Given the description of an element on the screen output the (x, y) to click on. 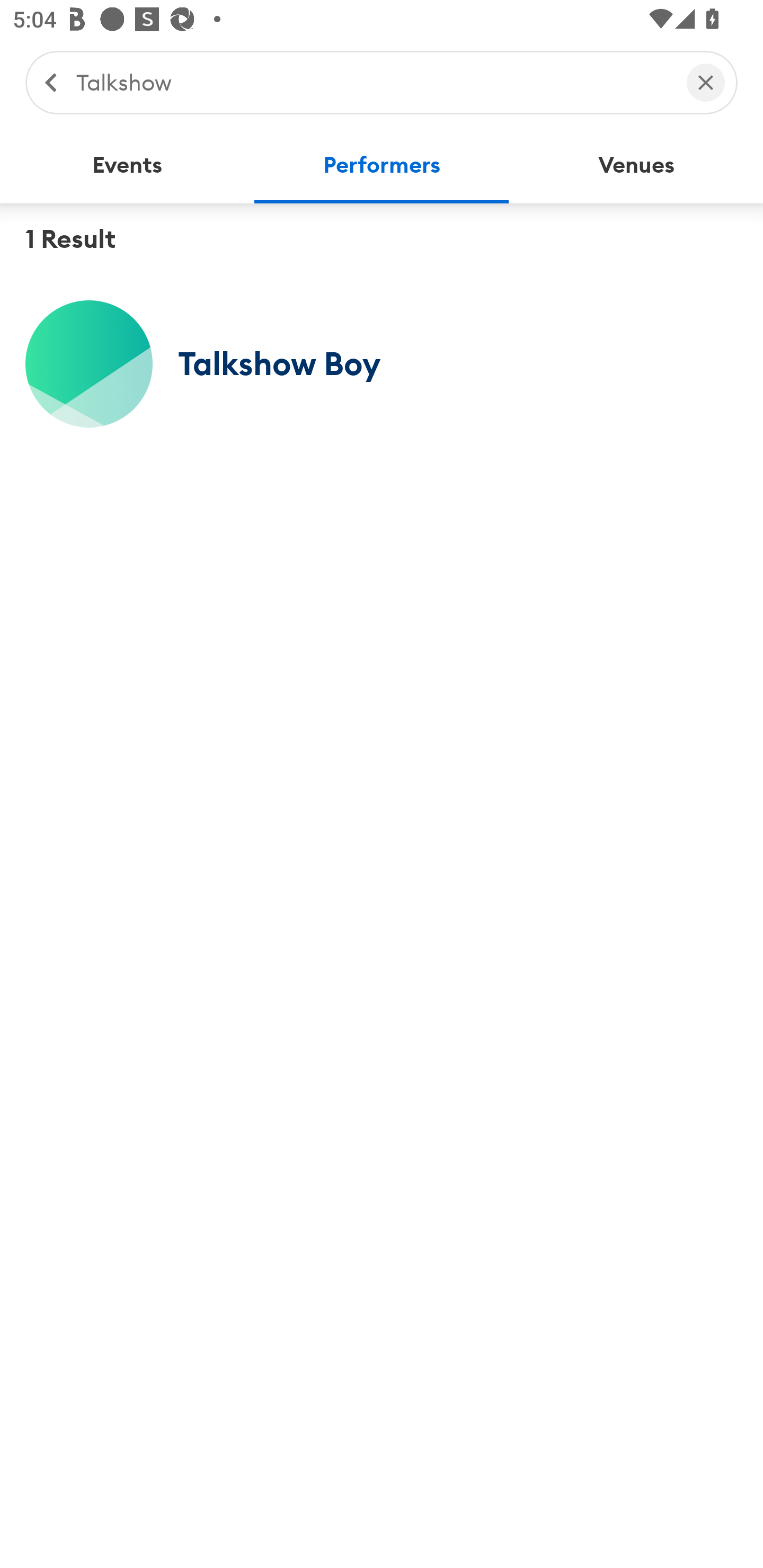
Talkshow (371, 81)
Clear Search (705, 81)
Events (127, 165)
Venues (635, 165)
Talkshow Boy (381, 363)
